Given the description of an element on the screen output the (x, y) to click on. 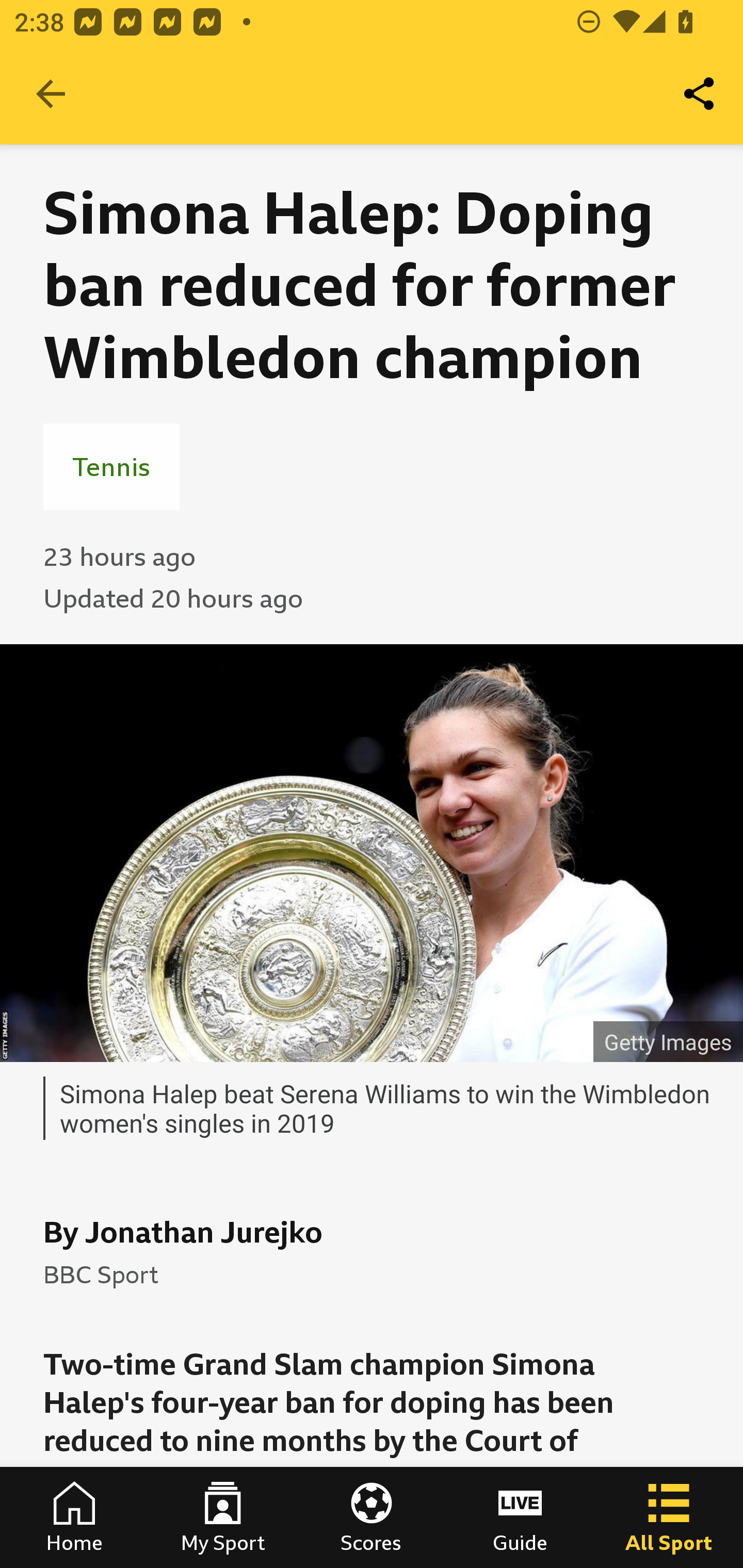
Navigate up (50, 93)
Share (699, 93)
Tennis (111, 466)
Home (74, 1517)
My Sport (222, 1517)
Scores (371, 1517)
Guide (519, 1517)
